Given the description of an element on the screen output the (x, y) to click on. 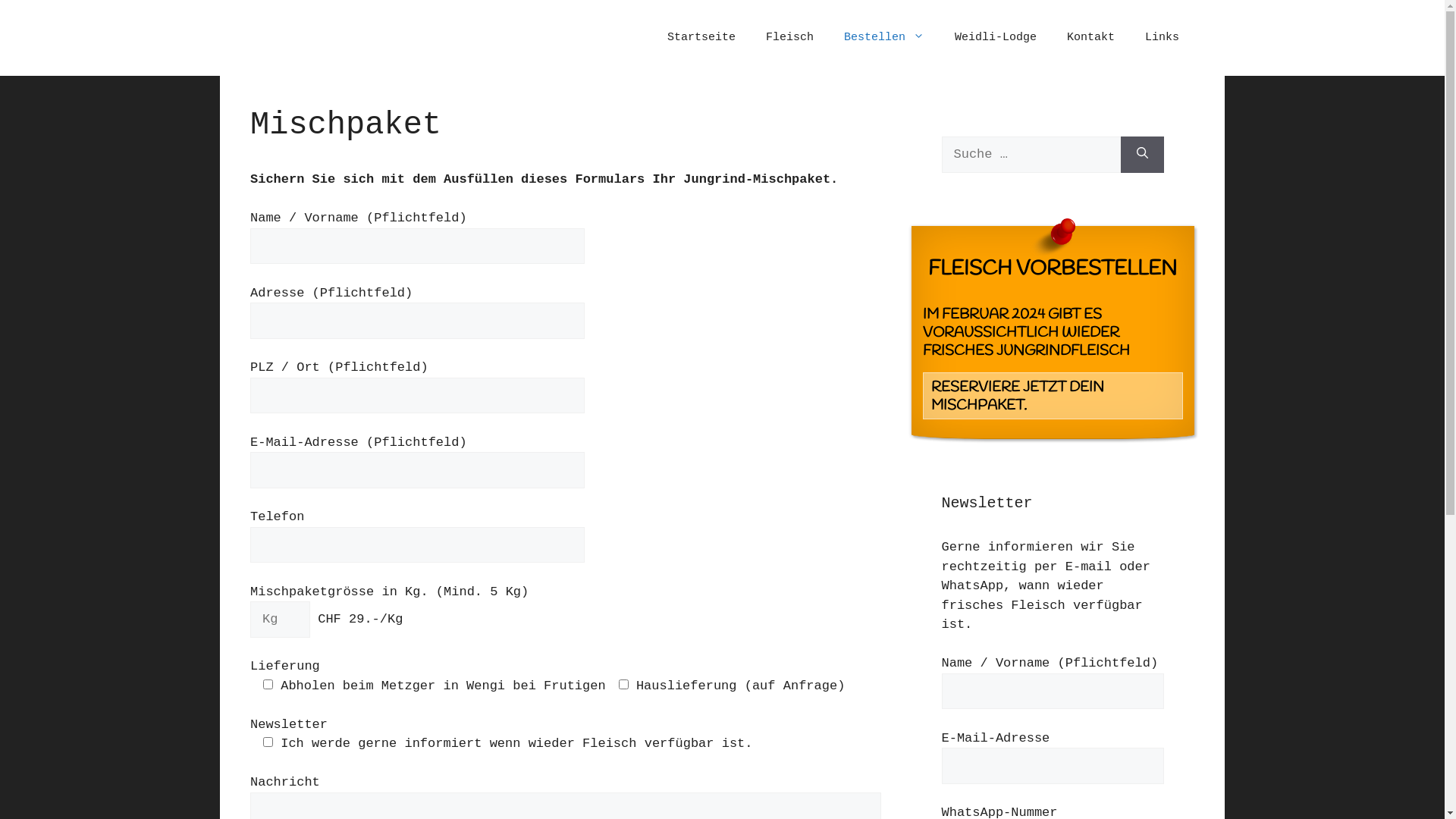
Bestellen Element type: text (883, 37)
Suche nach: Element type: hover (1031, 154)
Kontakt Element type: text (1090, 37)
Startseite Element type: text (701, 37)
Fleisch Element type: text (789, 37)
Links Element type: text (1161, 37)
RESERVIERE JETZT DEIN MISCHPAKET. Element type: text (1052, 396)
Weidli-Lodge Element type: text (995, 37)
